Given the description of an element on the screen output the (x, y) to click on. 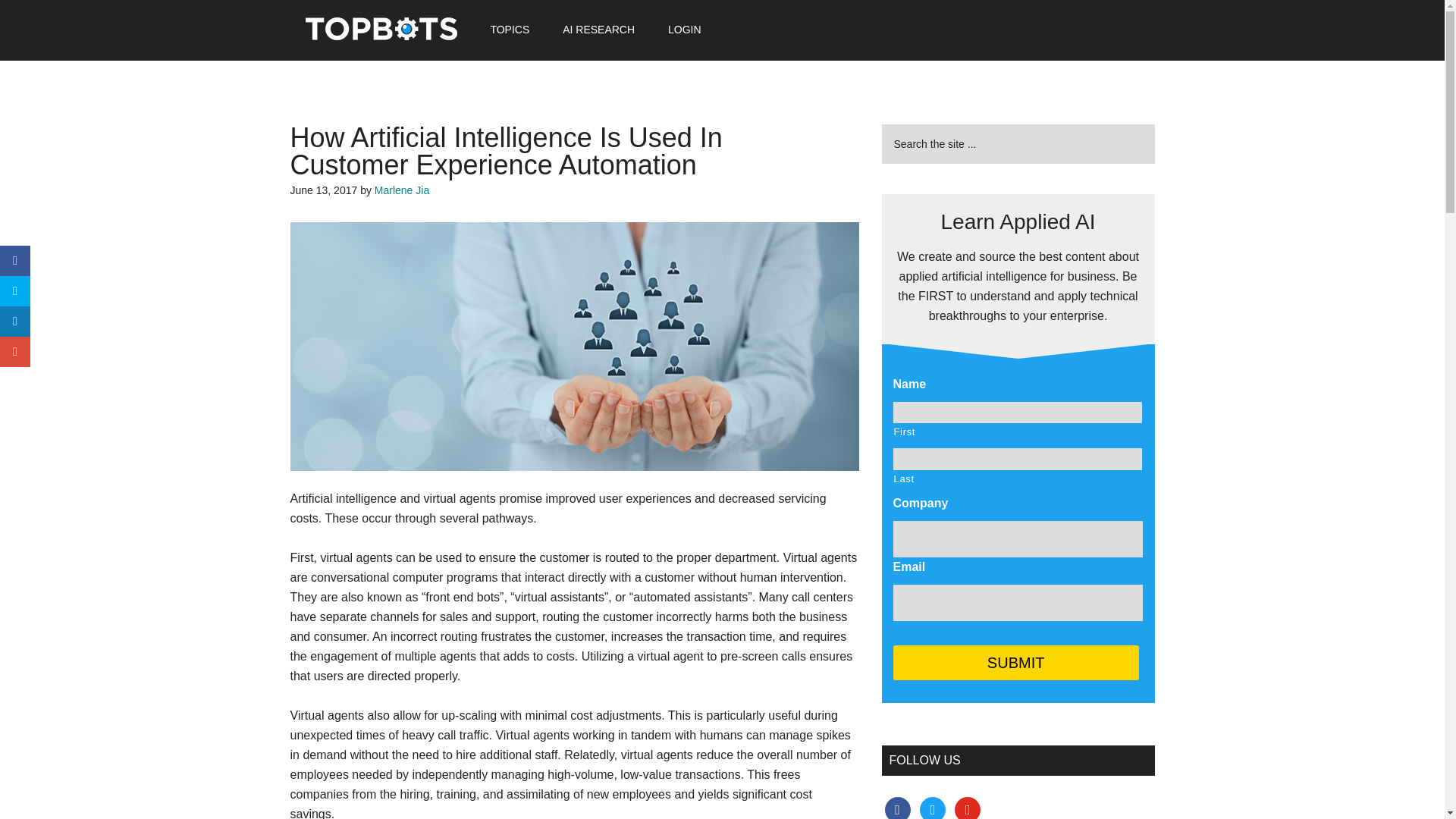
TOPICS (509, 29)
Instagram (967, 808)
Submit (1015, 662)
LOGIN (684, 29)
Submit (1015, 662)
Twitter (932, 808)
AI RESEARCH (598, 29)
Facebook (896, 808)
